Given the description of an element on the screen output the (x, y) to click on. 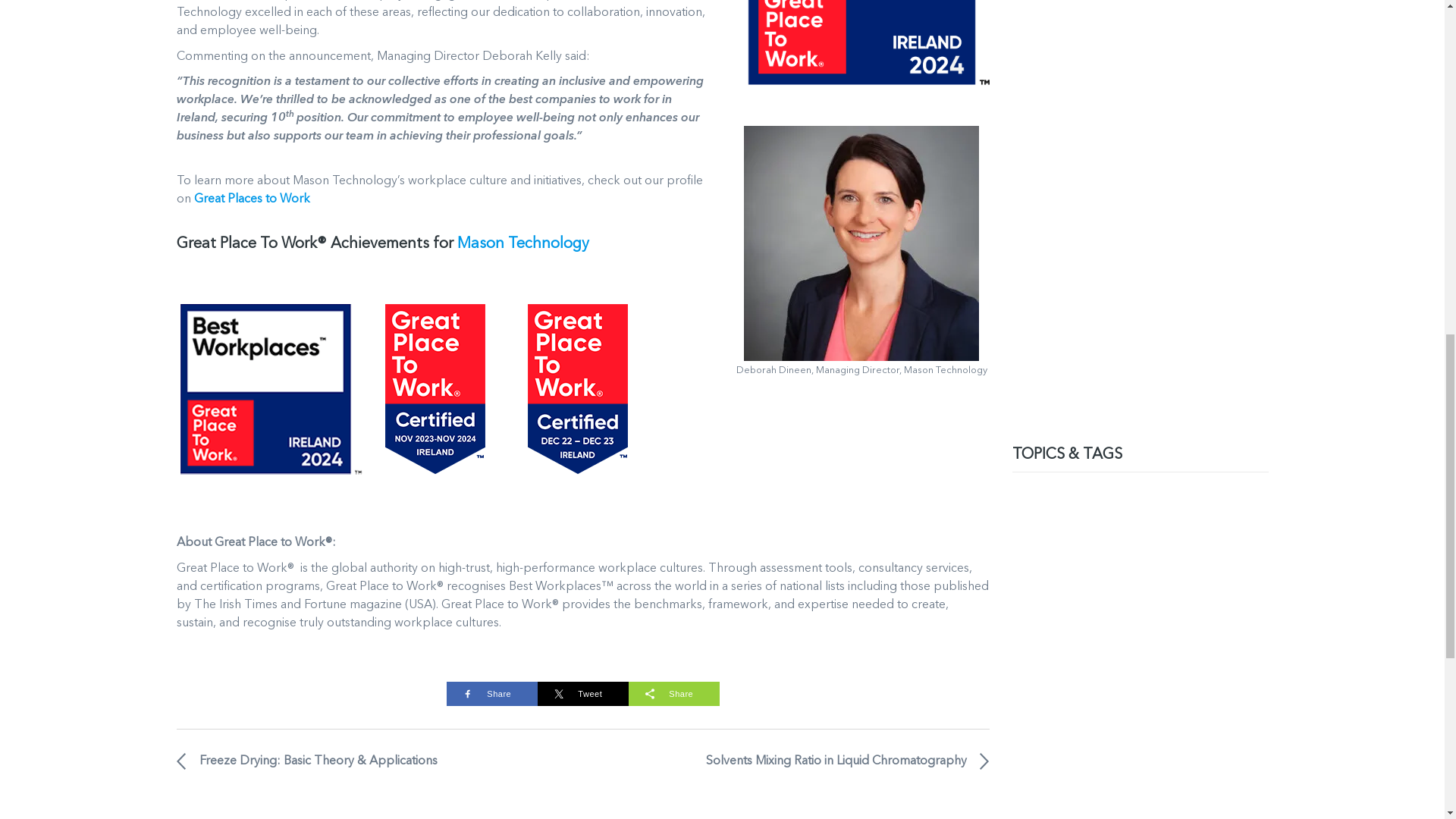
Great-Place-to-Work-Certifications-for-Mason-Technology (403, 393)
BW-IE-2026 (861, 49)
Deborah Kelly 3 500x500 (861, 243)
